Given the description of an element on the screen output the (x, y) to click on. 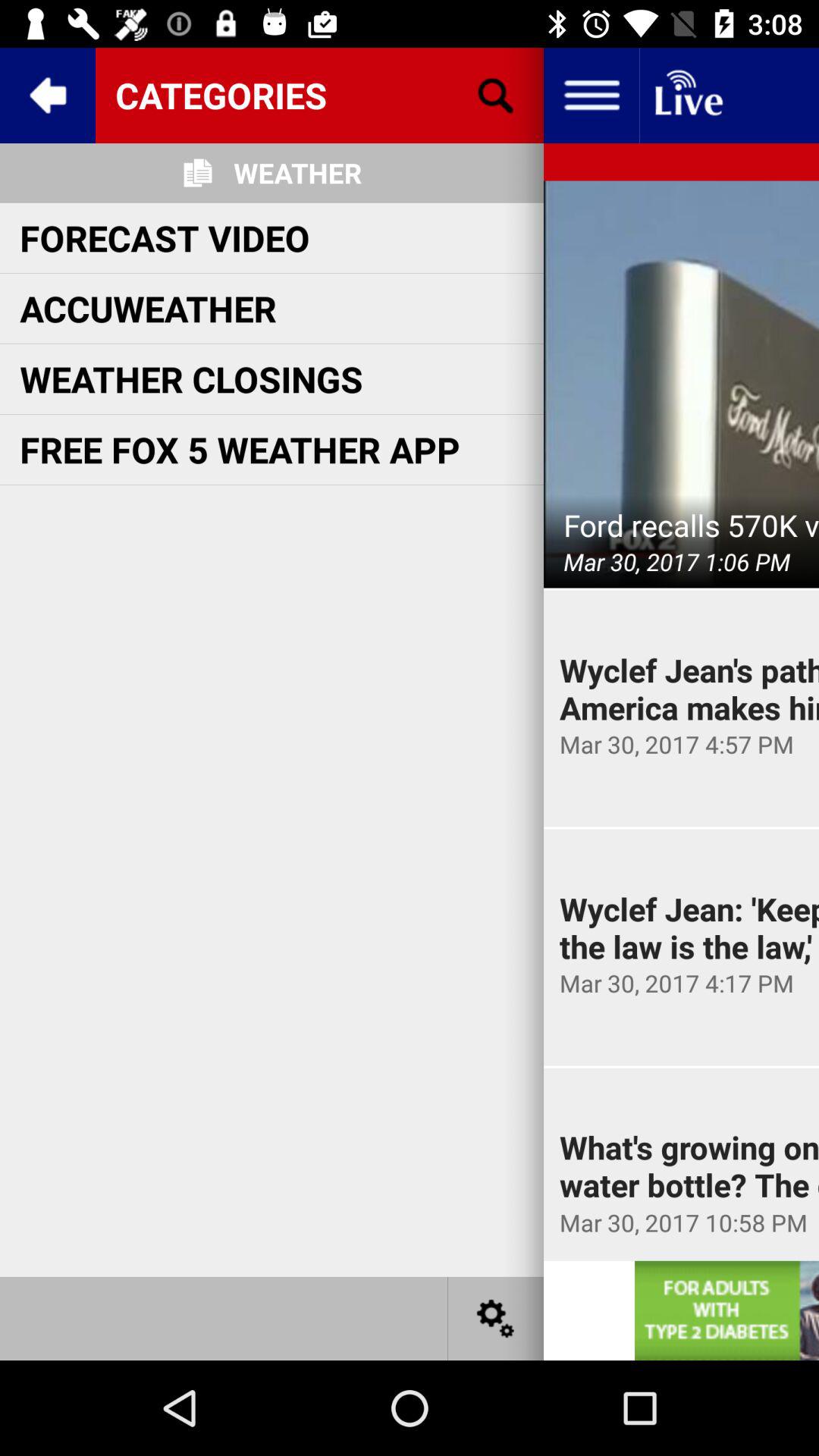
click on settings icon (495, 1317)
click on icon on the left side of weather (197, 173)
click the search icon right to categories (495, 95)
click the setting icon at the bottom of the page (495, 1317)
